Given the description of an element on the screen output the (x, y) to click on. 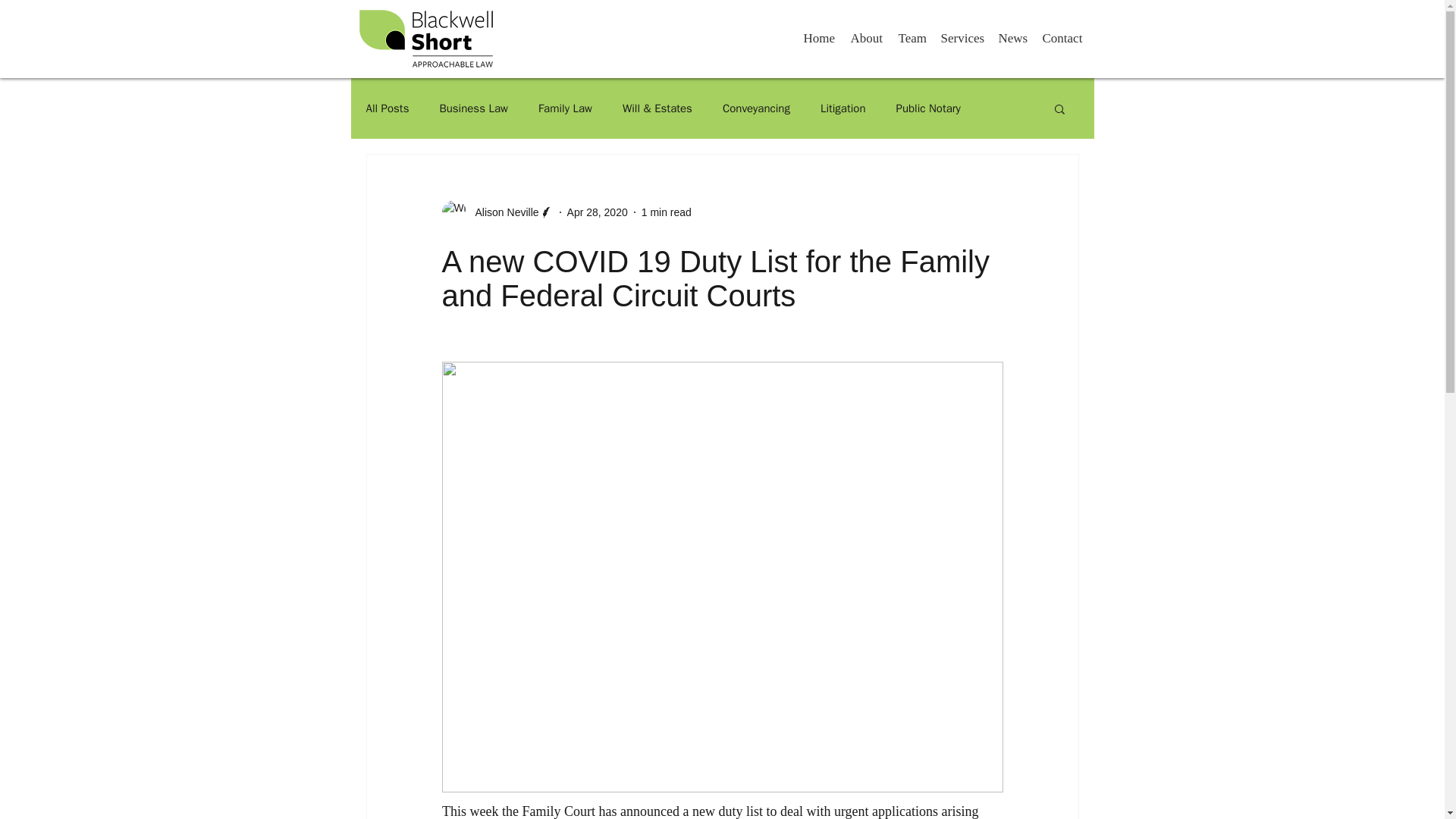
Contact (1061, 38)
News (1011, 38)
Apr 28, 2020 (597, 212)
Litigation (843, 108)
Family Law (565, 108)
Alison Neville (501, 212)
Business Law (472, 108)
Conveyancing (756, 108)
Public Notary (928, 108)
Services (961, 38)
